Given the description of an element on the screen output the (x, y) to click on. 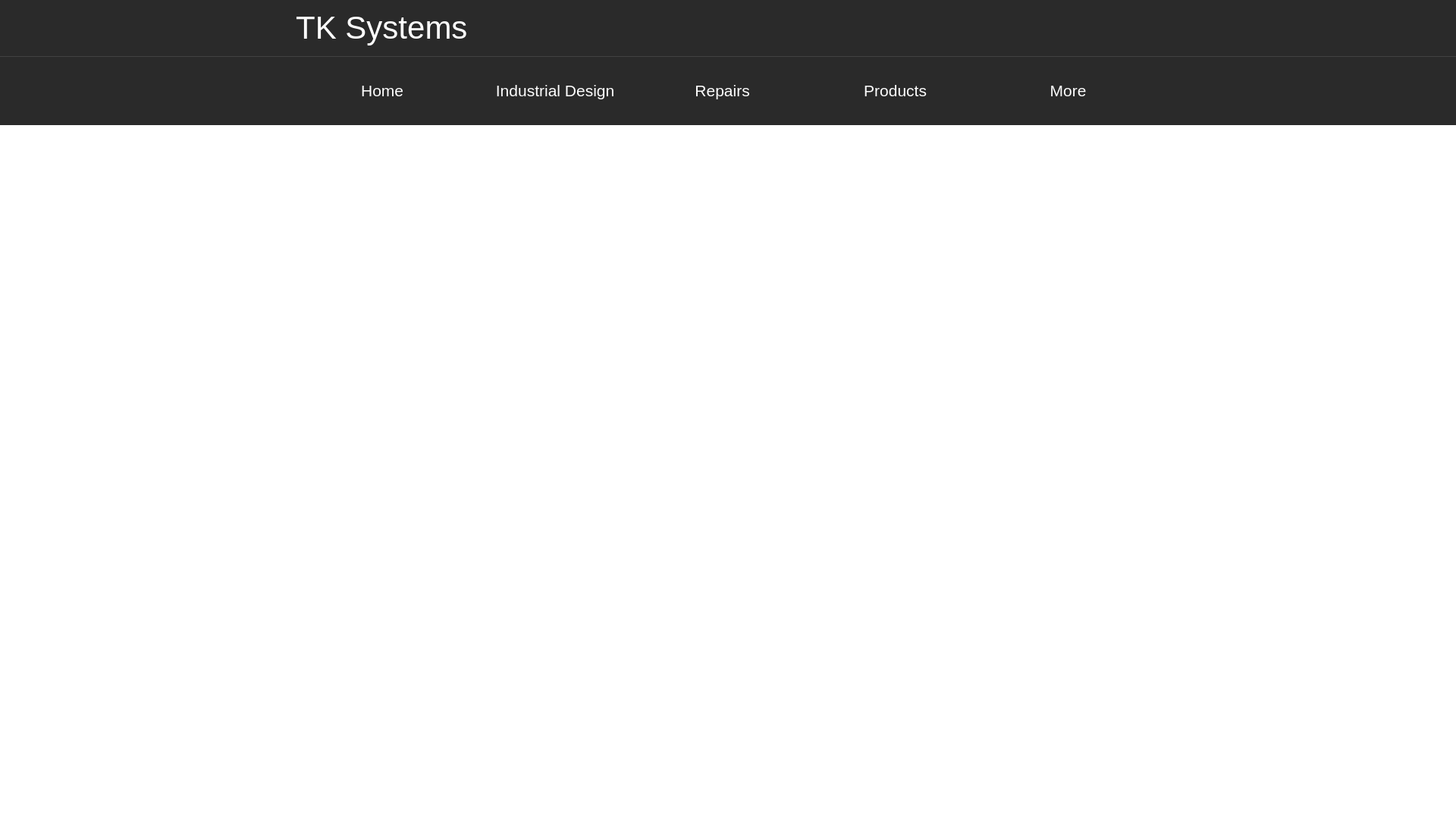
TK Systems (381, 27)
Products (900, 90)
Industrial Design (555, 90)
Products (900, 90)
Industrial Design (555, 90)
Repairs (727, 90)
Repairs (727, 90)
More (1073, 90)
Home (381, 90)
Home (381, 90)
